Given the description of an element on the screen output the (x, y) to click on. 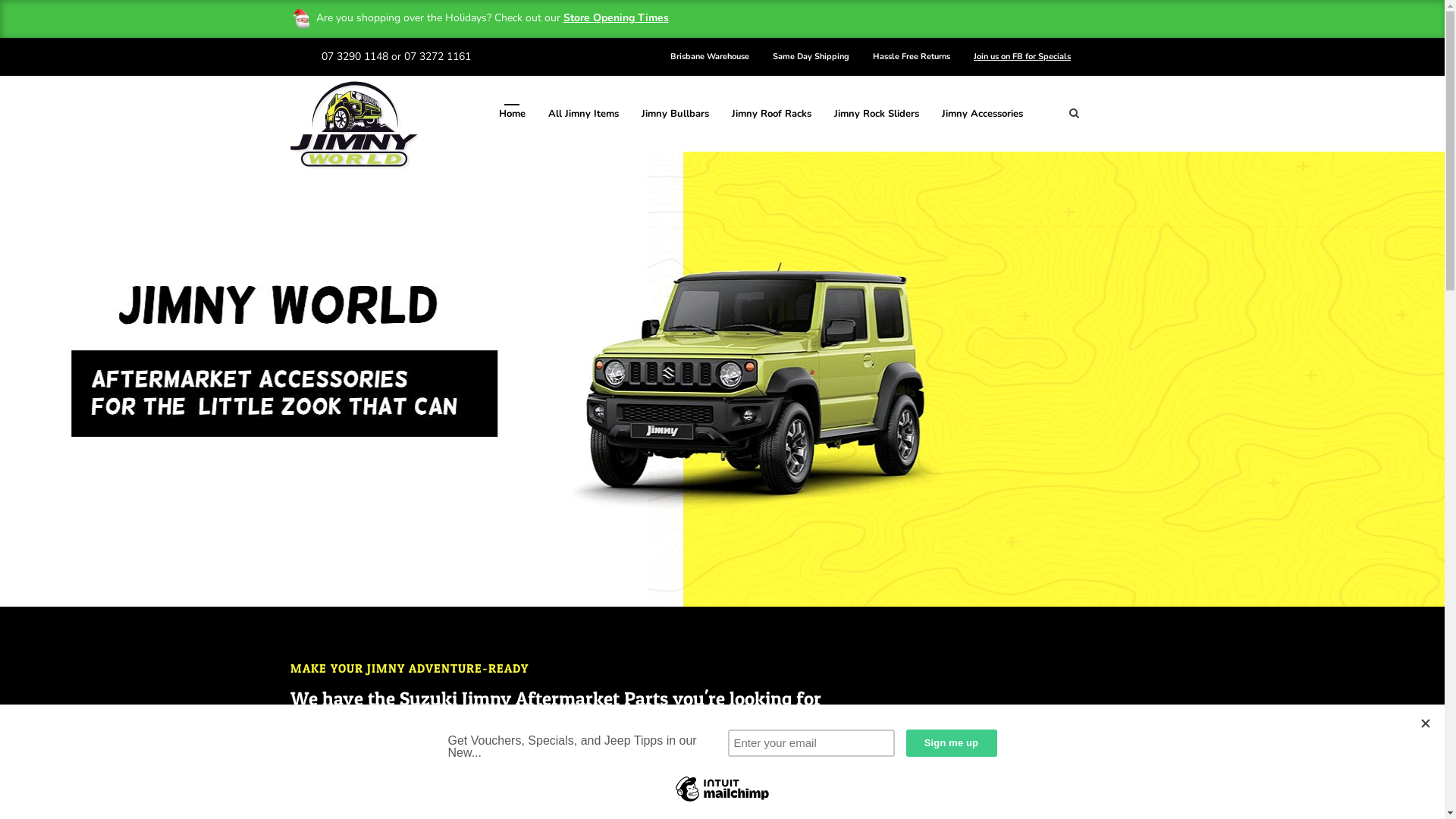
All Jimny Items Element type: text (582, 113)
Jimny Rock Sliders Element type: text (876, 113)
07 3290 1148 or 07 3272 1161 Element type: text (394, 56)
Jimny Shop Element type: text (1091, 748)
Store Opening Times Element type: text (615, 17)
Brisbane Warehouse Element type: text (709, 57)
Jimny Roof Racks Element type: text (770, 113)
Jimny Accessories Element type: text (981, 113)
Hassle Free Returns Element type: text (911, 57)
Home Element type: text (511, 113)
Join us on FB for Specials Element type: text (1021, 57)
sales@jimnyworld.com.au Element type: text (385, 94)
Jimny Bullbars Element type: text (675, 113)
